Given the description of an element on the screen output the (x, y) to click on. 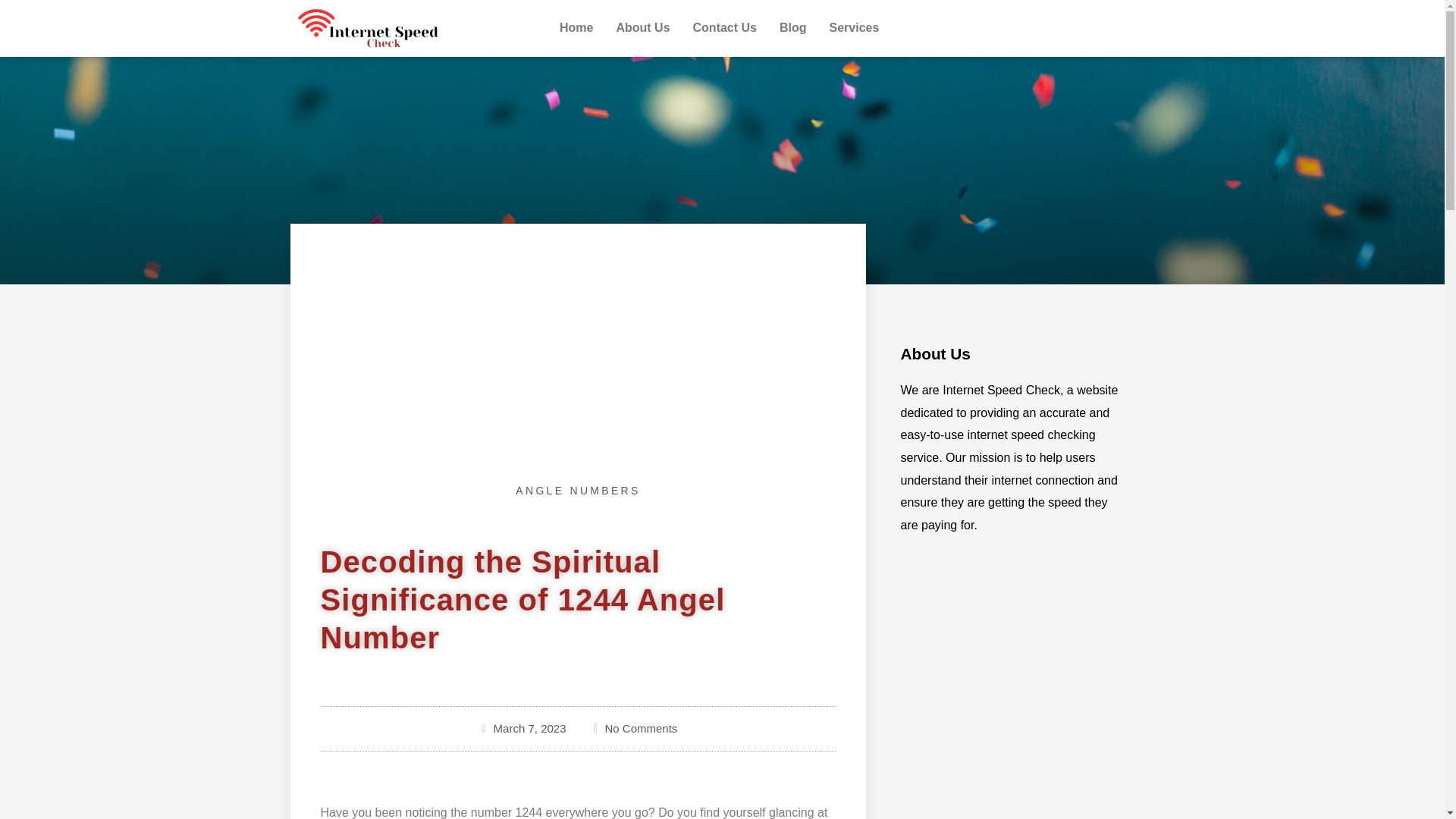
No Comments (633, 728)
About Us (642, 27)
Advertisement (1009, 695)
March 7, 2023 (522, 728)
Home (576, 27)
Contact Us (724, 27)
Advertisement (577, 359)
Services (854, 27)
ANGLE NUMBERS (577, 490)
Blog (793, 27)
